Given the description of an element on the screen output the (x, y) to click on. 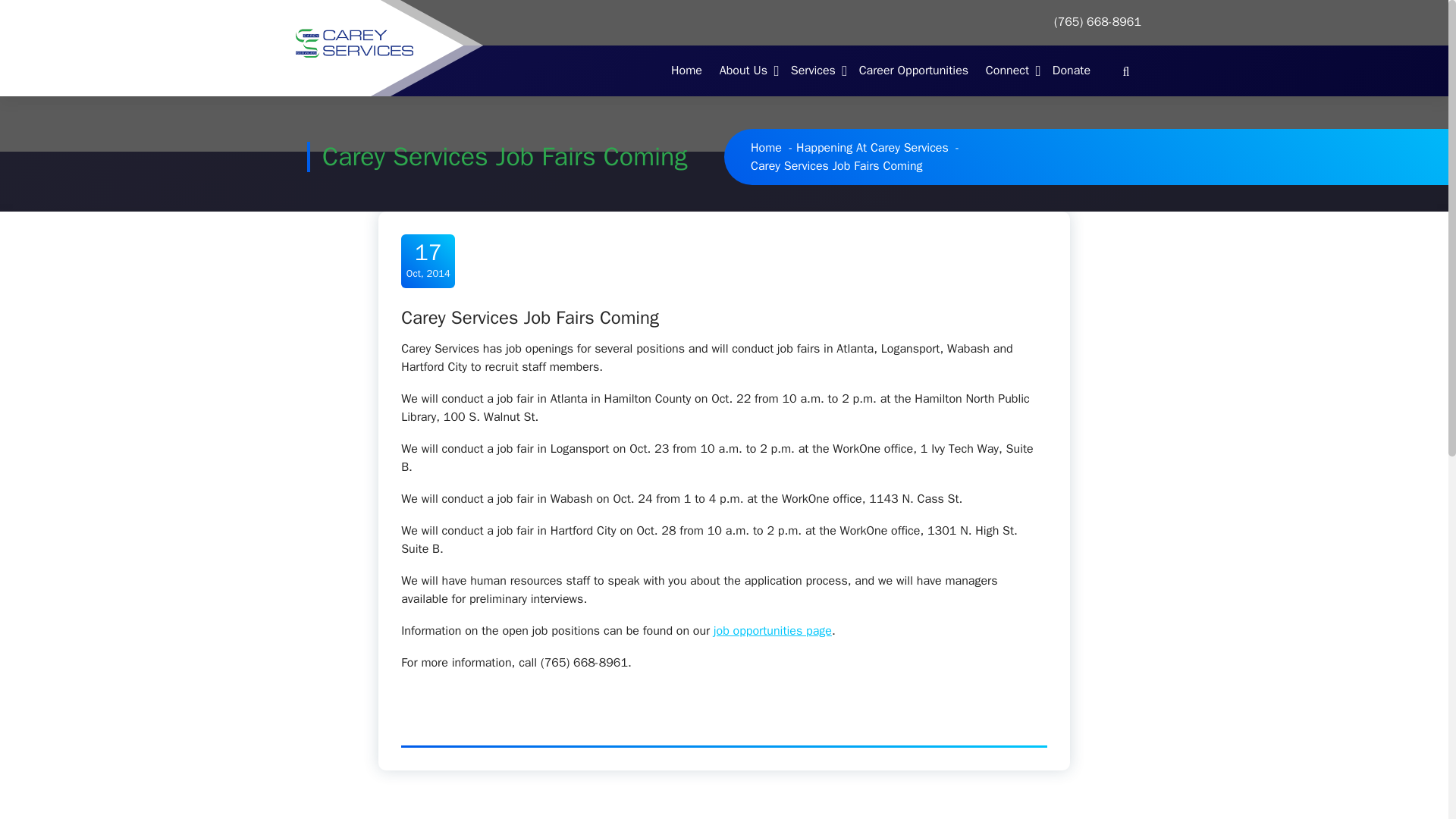
Connect (1009, 70)
Services (815, 70)
Career Opportunities (913, 70)
Home (686, 70)
About Us (746, 70)
Donate (1071, 70)
Services (815, 70)
About Us (746, 70)
Home (686, 70)
